Given the description of an element on the screen output the (x, y) to click on. 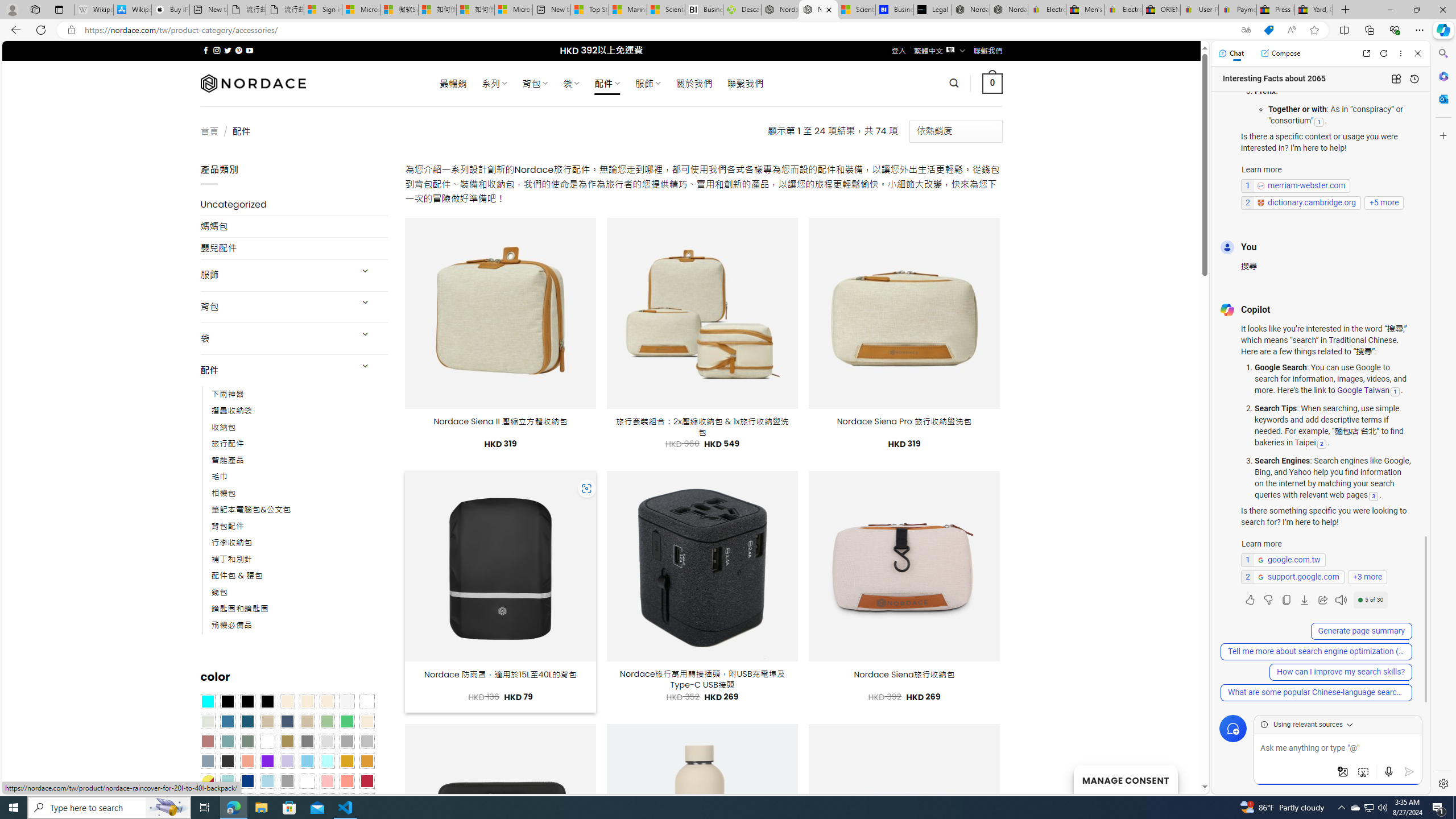
MANAGE CONSENT (1125, 779)
